Given the description of an element on the screen output the (x, y) to click on. 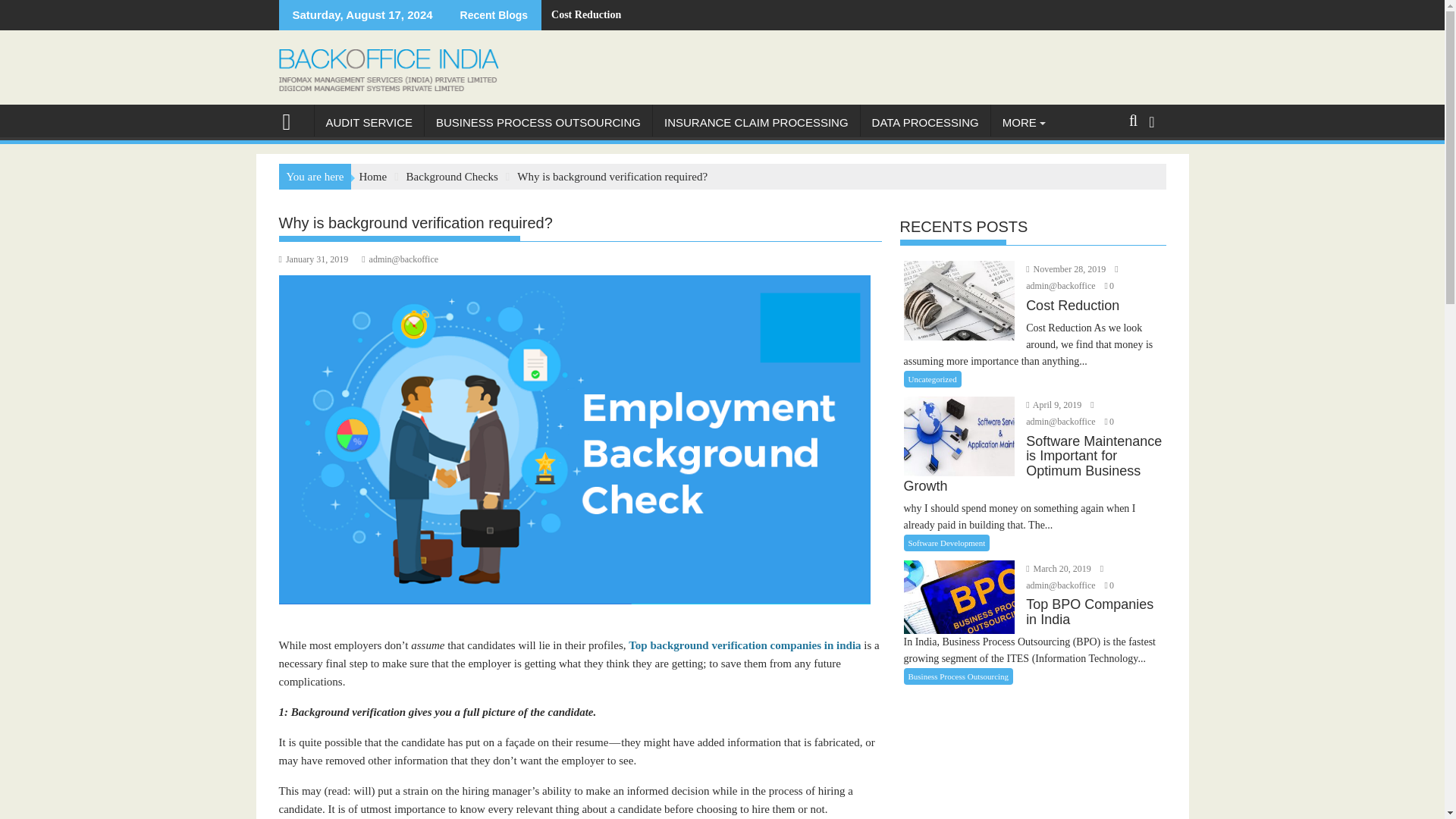
BUSINESS PROCESS OUTSOURCING (538, 122)
Cost Reduction (581, 15)
Top background verification companies in india (744, 645)
INSURANCE CLAIM PROCESSING (756, 122)
DATA PROCESSING (925, 122)
Cost Reduction (581, 15)
BackOffice India (293, 119)
MORE (1019, 122)
